Given the description of an element on the screen output the (x, y) to click on. 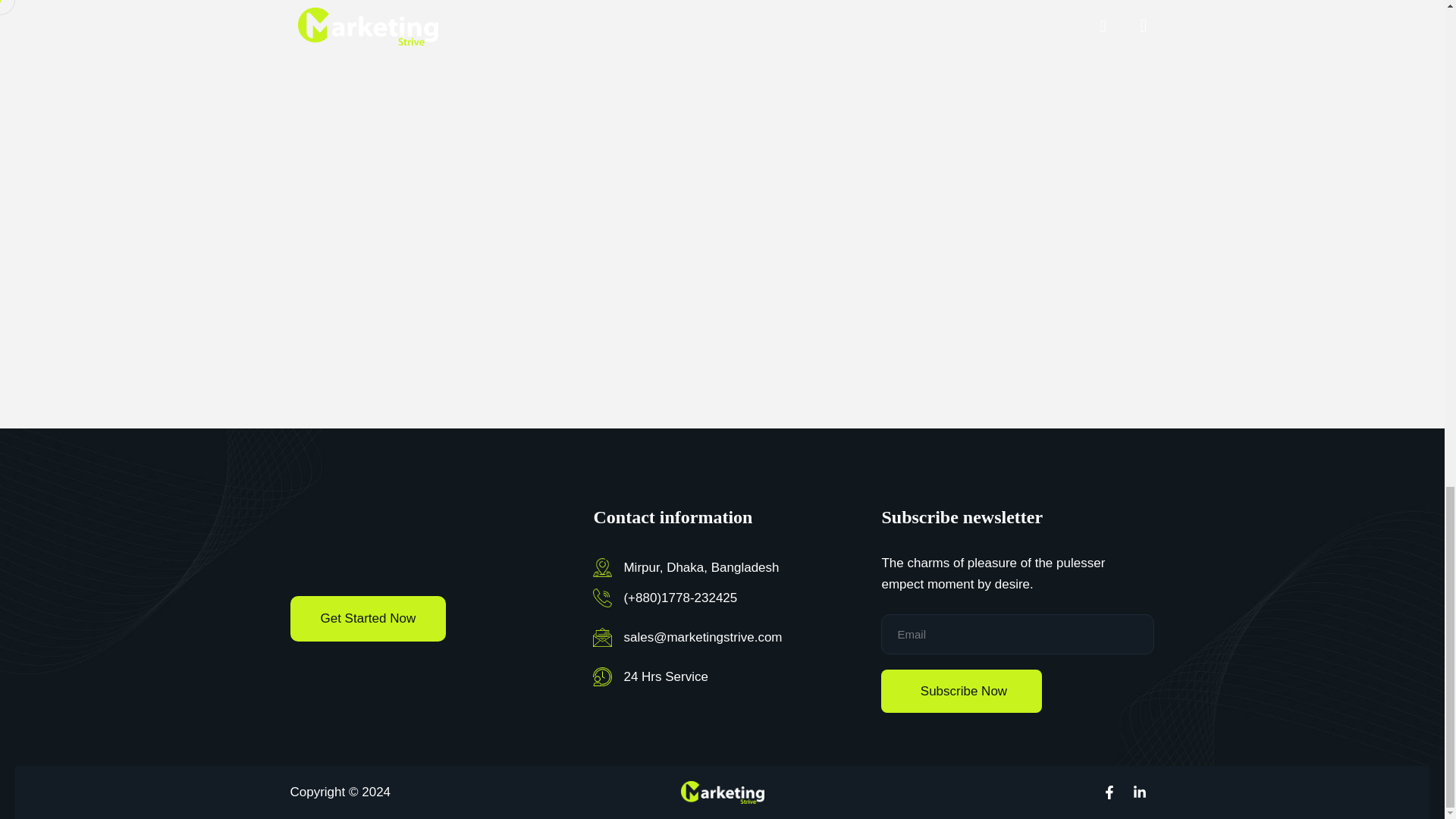
Get Started Now (367, 618)
Subscribe Now (961, 690)
